Given the description of an element on the screen output the (x, y) to click on. 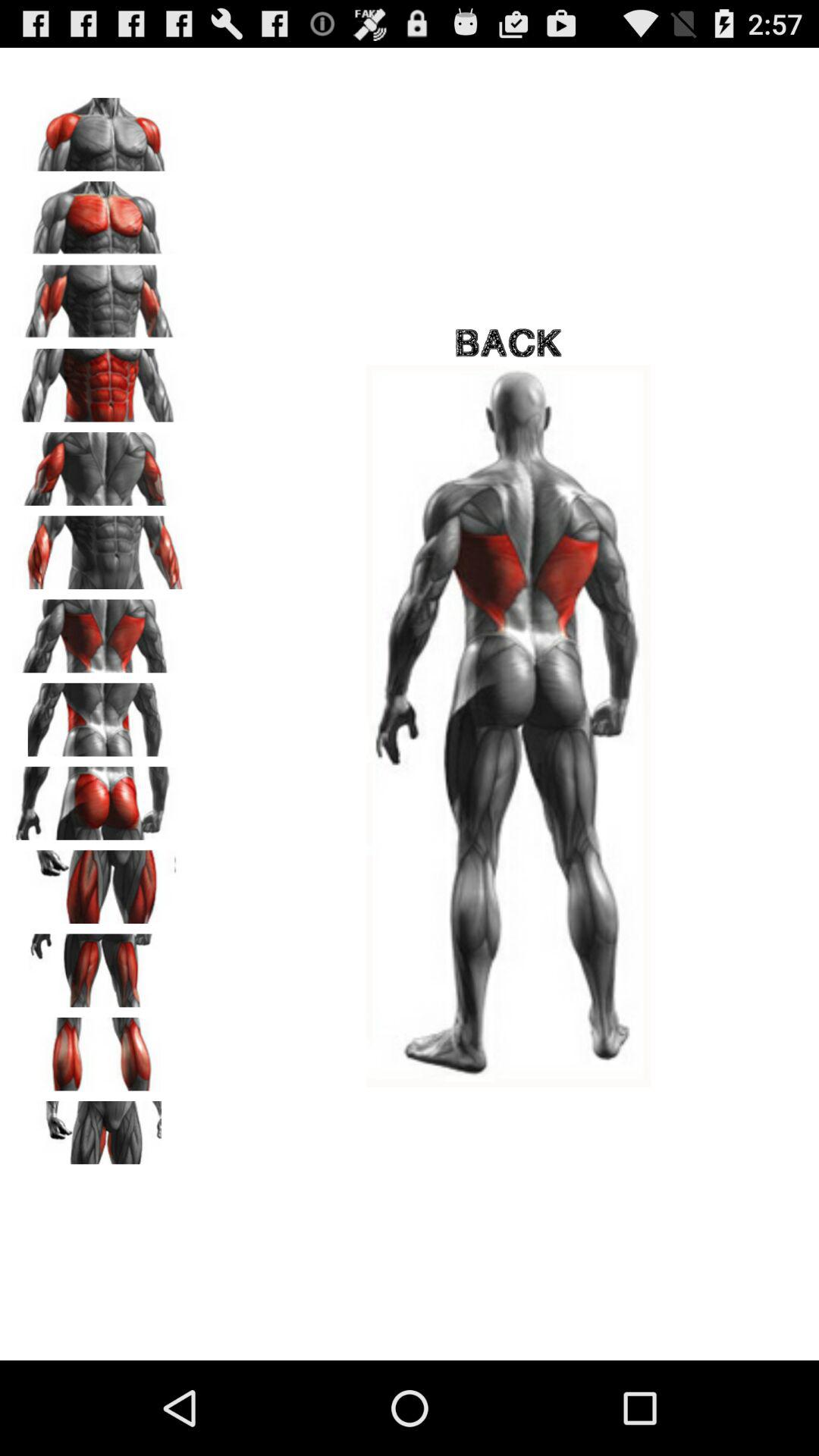
click for pectoral muscles (99, 212)
